Given the description of an element on the screen output the (x, y) to click on. 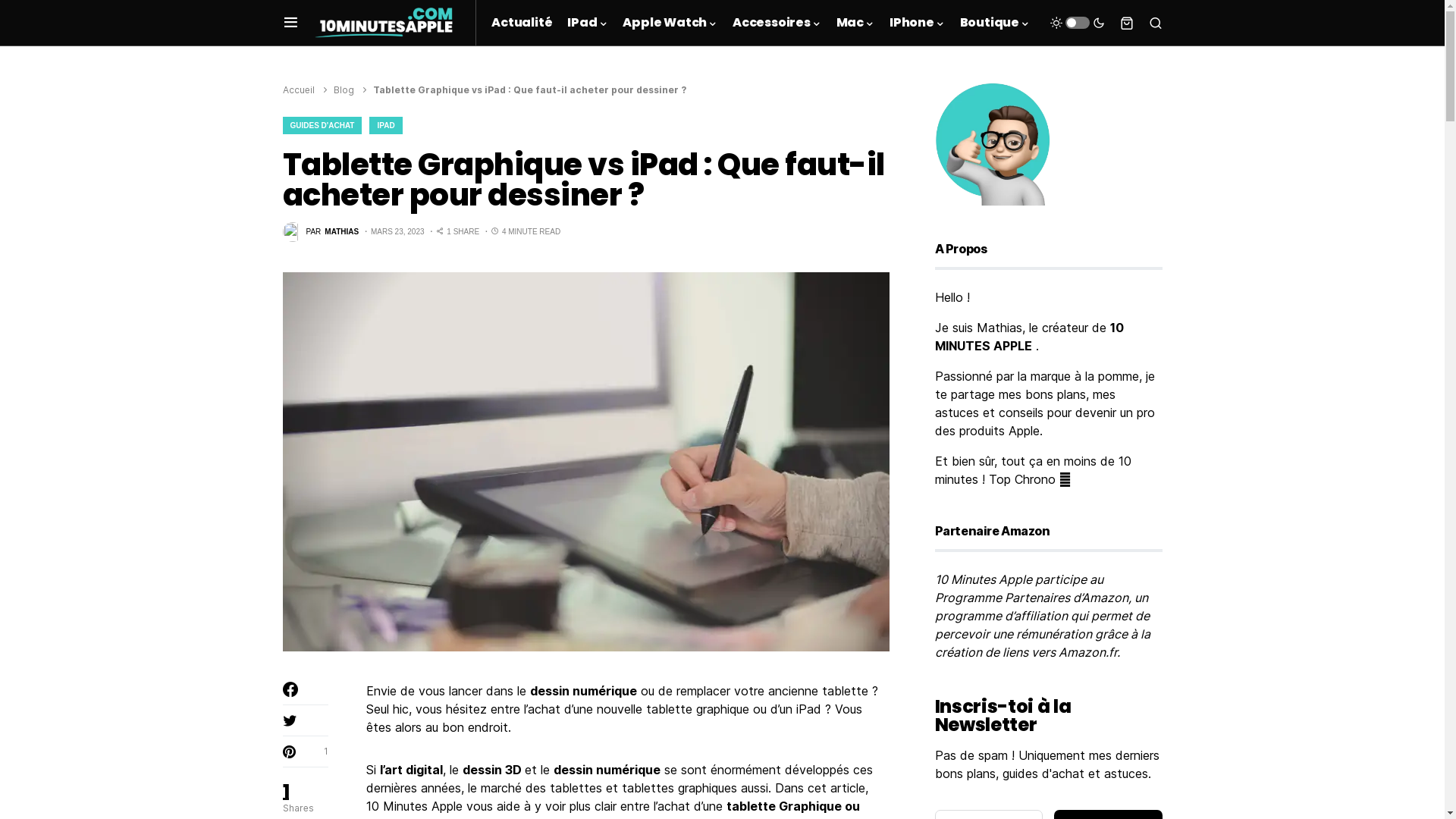
Voir votre panier d'achat Element type: hover (1125, 22)
PAR
MATHIAS Element type: text (320, 231)
Accueil Element type: text (297, 89)
1 Element type: text (304, 751)
IPAD Element type: text (385, 125)
Boutique Element type: text (994, 22)
Blog Element type: text (343, 89)
GUIDES D'ACHAT Element type: text (321, 125)
Mac Element type: text (855, 22)
Accessoires Element type: text (776, 22)
IPhone Element type: text (916, 22)
Apple Watch Element type: text (669, 22)
IPad Element type: text (587, 22)
